Given the description of an element on the screen output the (x, y) to click on. 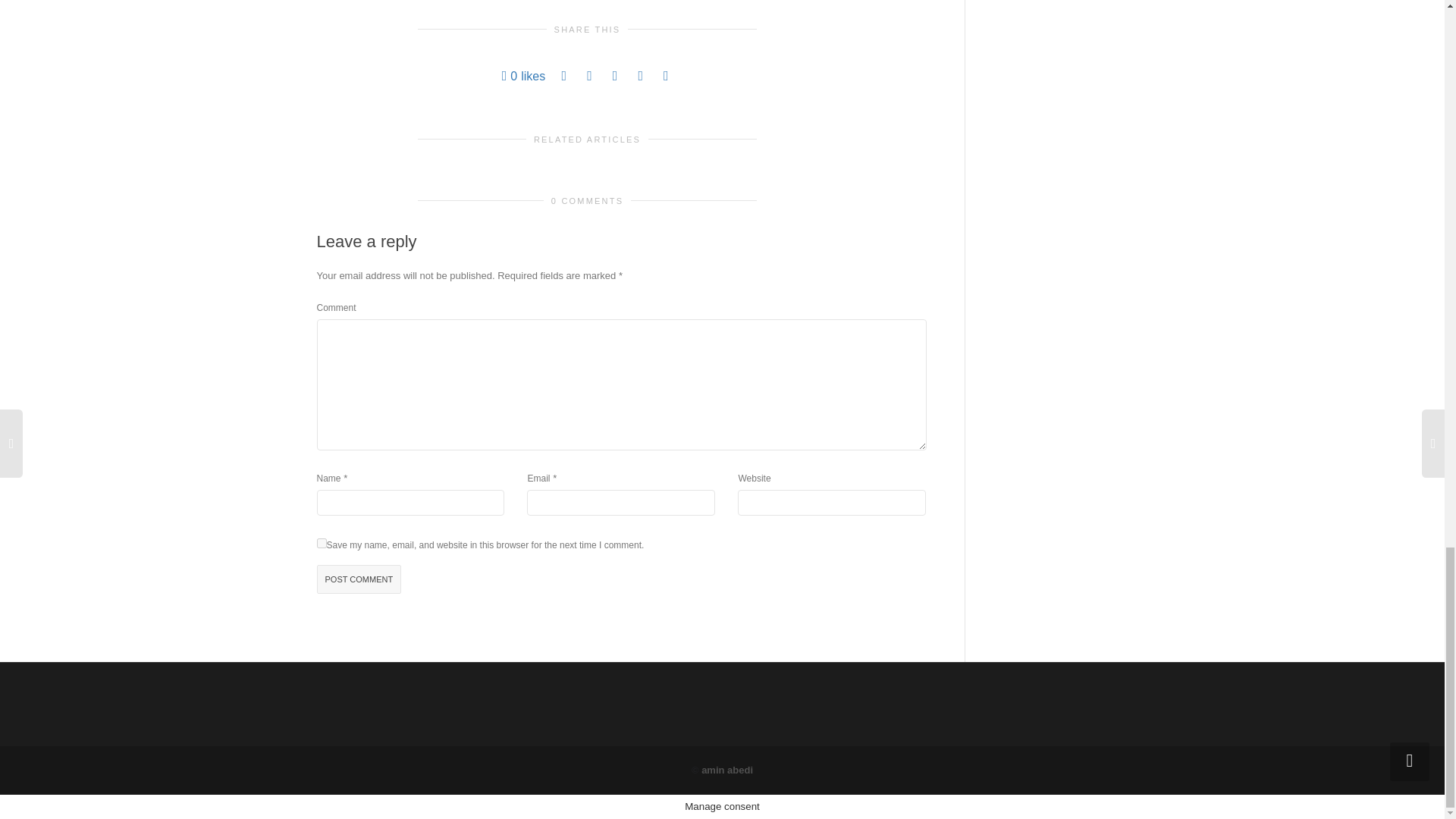
Like this (524, 76)
yes (321, 542)
Post comment (359, 579)
